Given the description of an element on the screen output the (x, y) to click on. 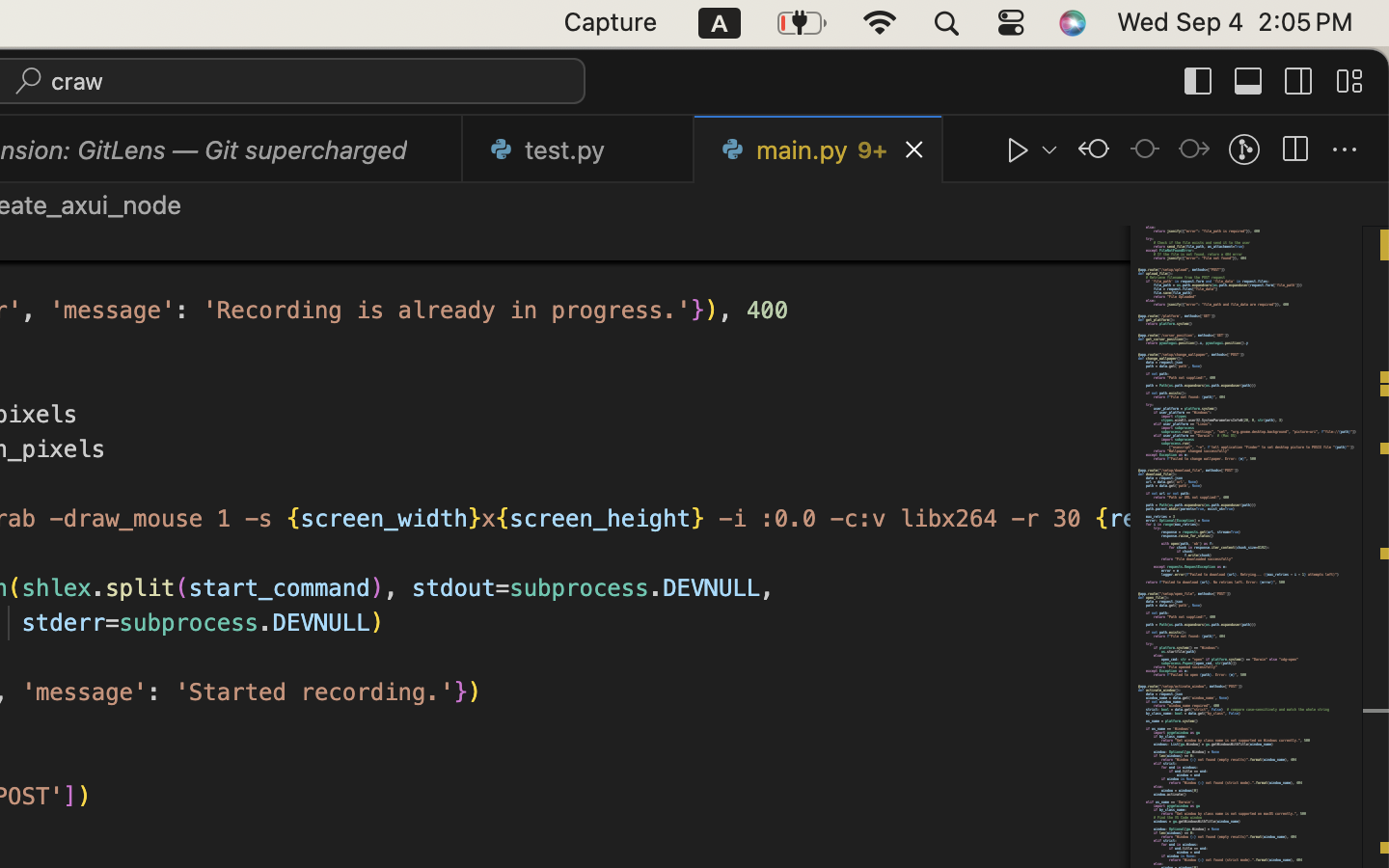
 Element type: AXCheckBox (1198, 80)
 Element type: AXButton (1294, 150)
 Element type: AXStaticText (1243, 150)
 Element type: AXButton (433, 150)
 Element type: AXButton (1093, 150)
